Given the description of an element on the screen output the (x, y) to click on. 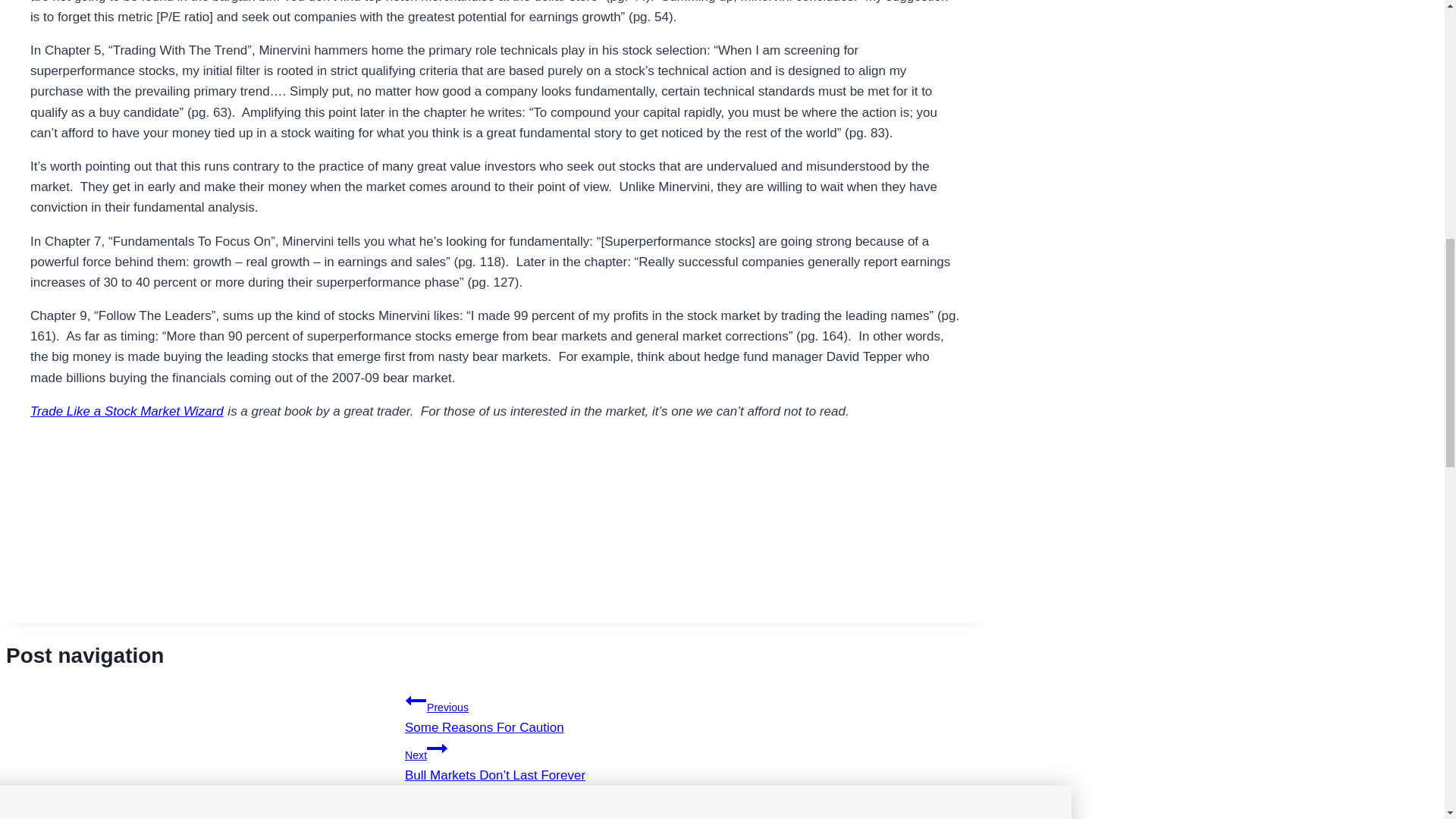
Trade Like a Stock Market Wizard (127, 411)
Continue (436, 748)
Previous (494, 712)
